Given the description of an element on the screen output the (x, y) to click on. 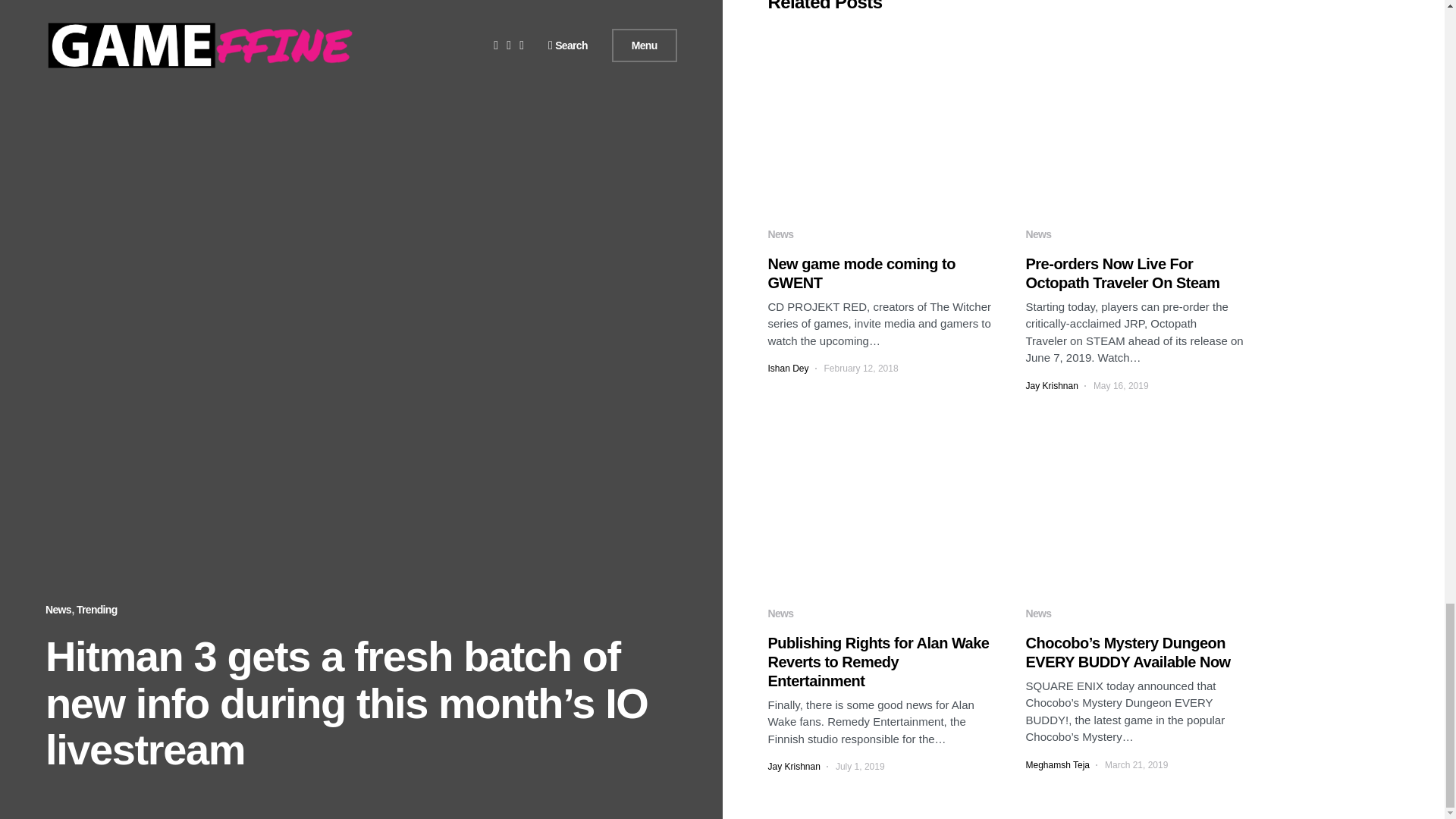
View all posts by Jay Krishnan (1051, 386)
View all posts by Jay Krishnan (793, 766)
View all posts by Ishan Dey (787, 368)
View all posts by Meghamsh Teja (1057, 765)
